Given the description of an element on the screen output the (x, y) to click on. 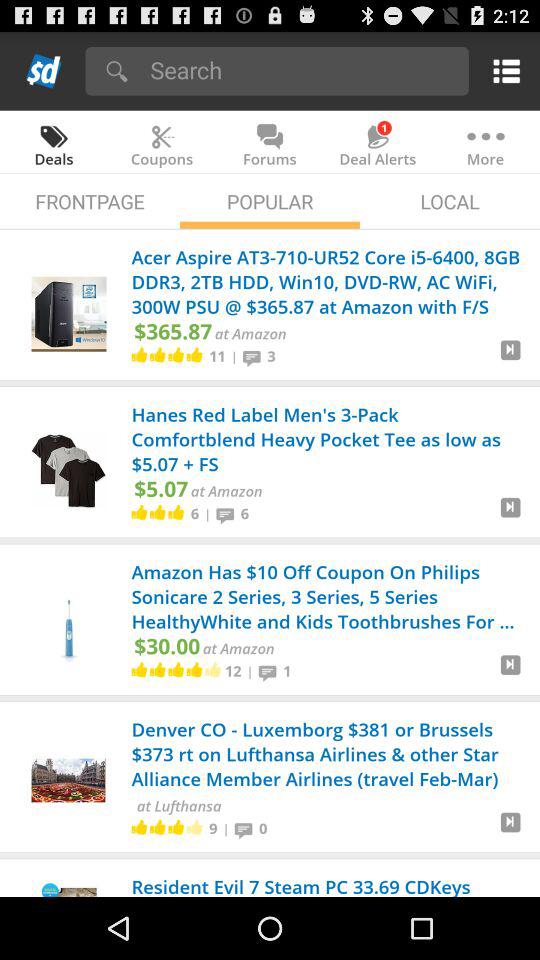
go to next (510, 515)
